Given the description of an element on the screen output the (x, y) to click on. 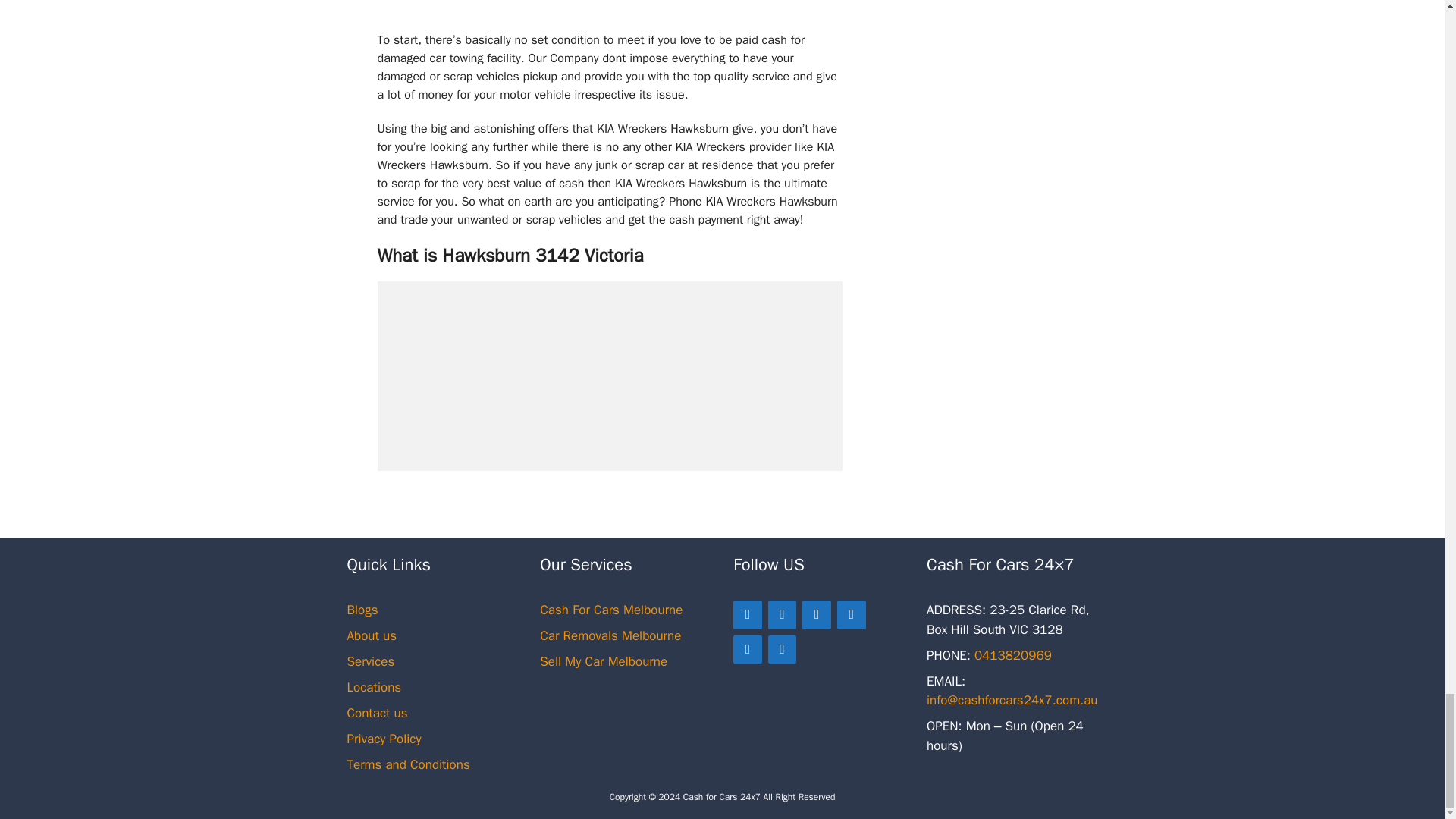
About us (372, 635)
Locations (374, 687)
Blogs (362, 609)
Services (370, 661)
Contact us (377, 713)
